Given the description of an element on the screen output the (x, y) to click on. 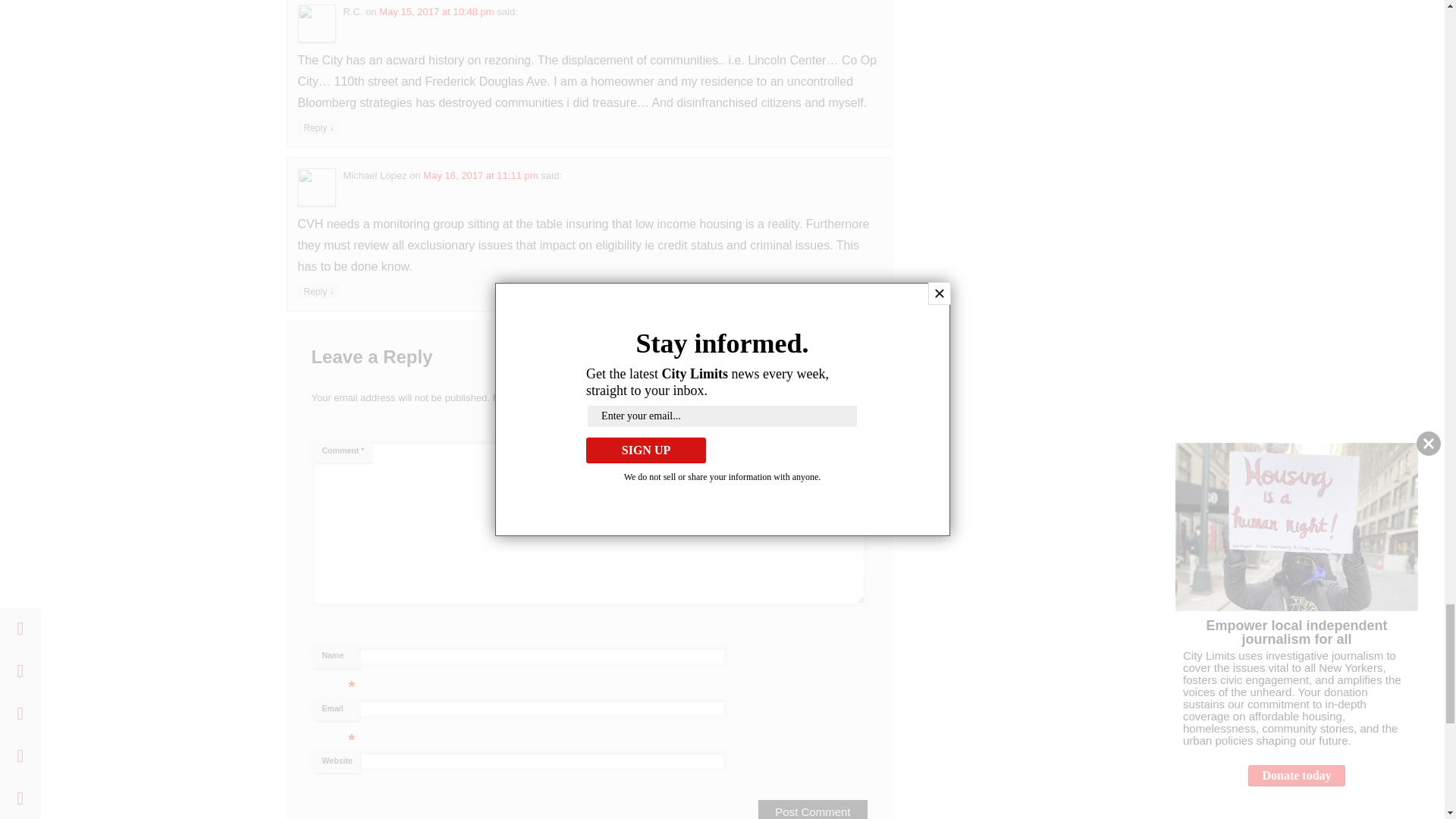
Post Comment (812, 809)
